Given the description of an element on the screen output the (x, y) to click on. 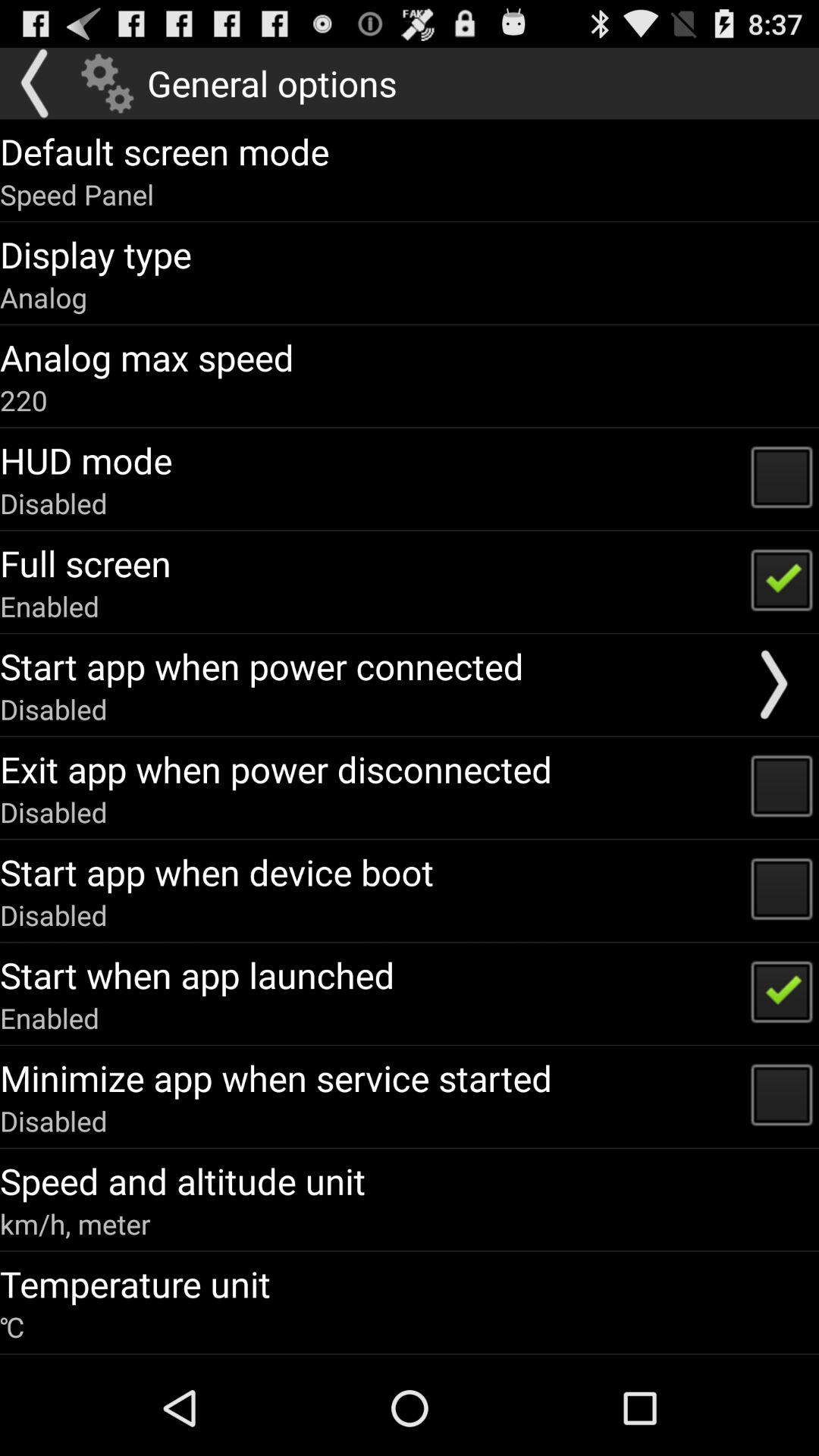
tap icon below the analog max speed app (23, 400)
